Given the description of an element on the screen output the (x, y) to click on. 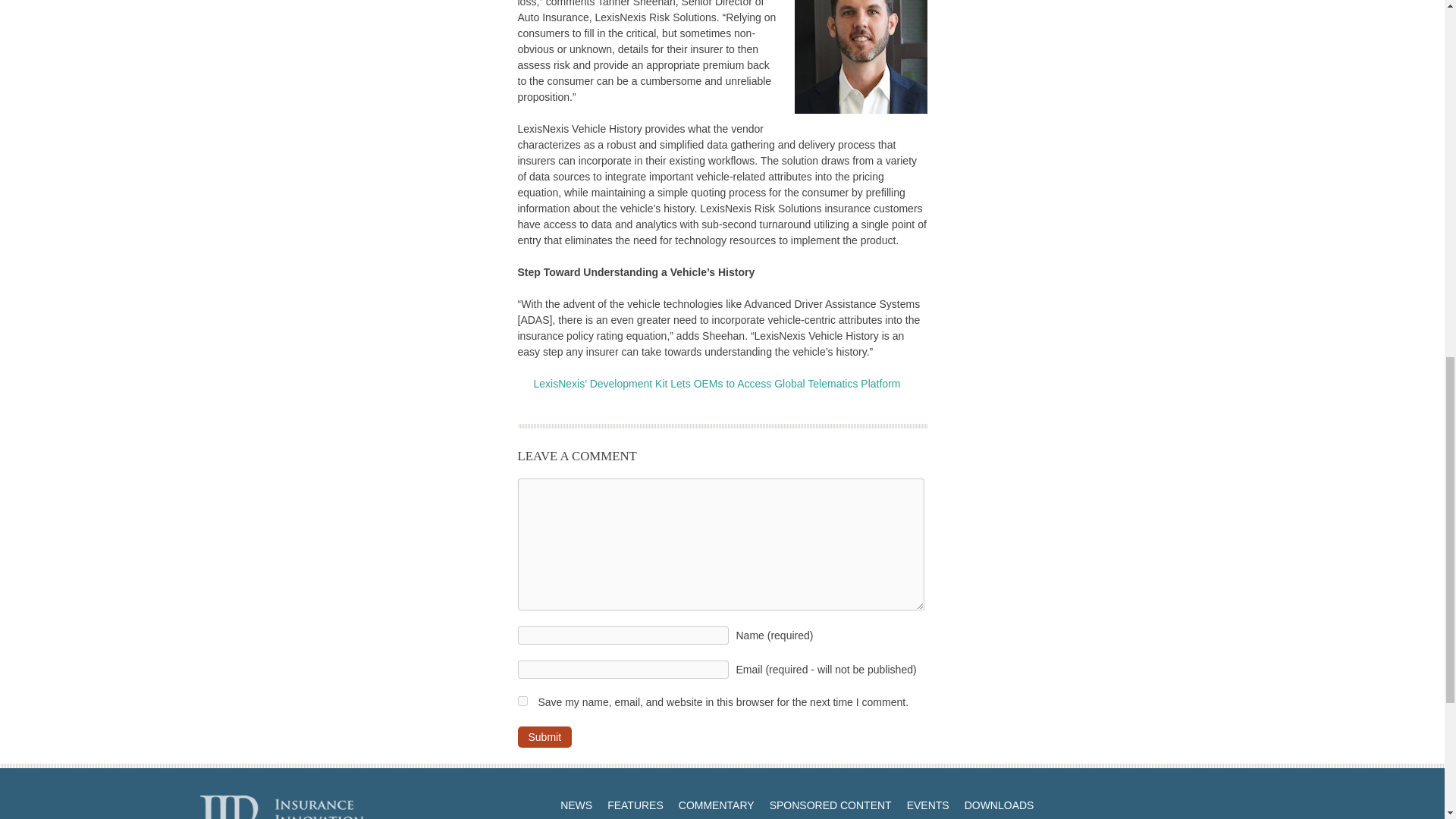
Submit (544, 736)
Submit (544, 736)
yes (521, 700)
